Given the description of an element on the screen output the (x, y) to click on. 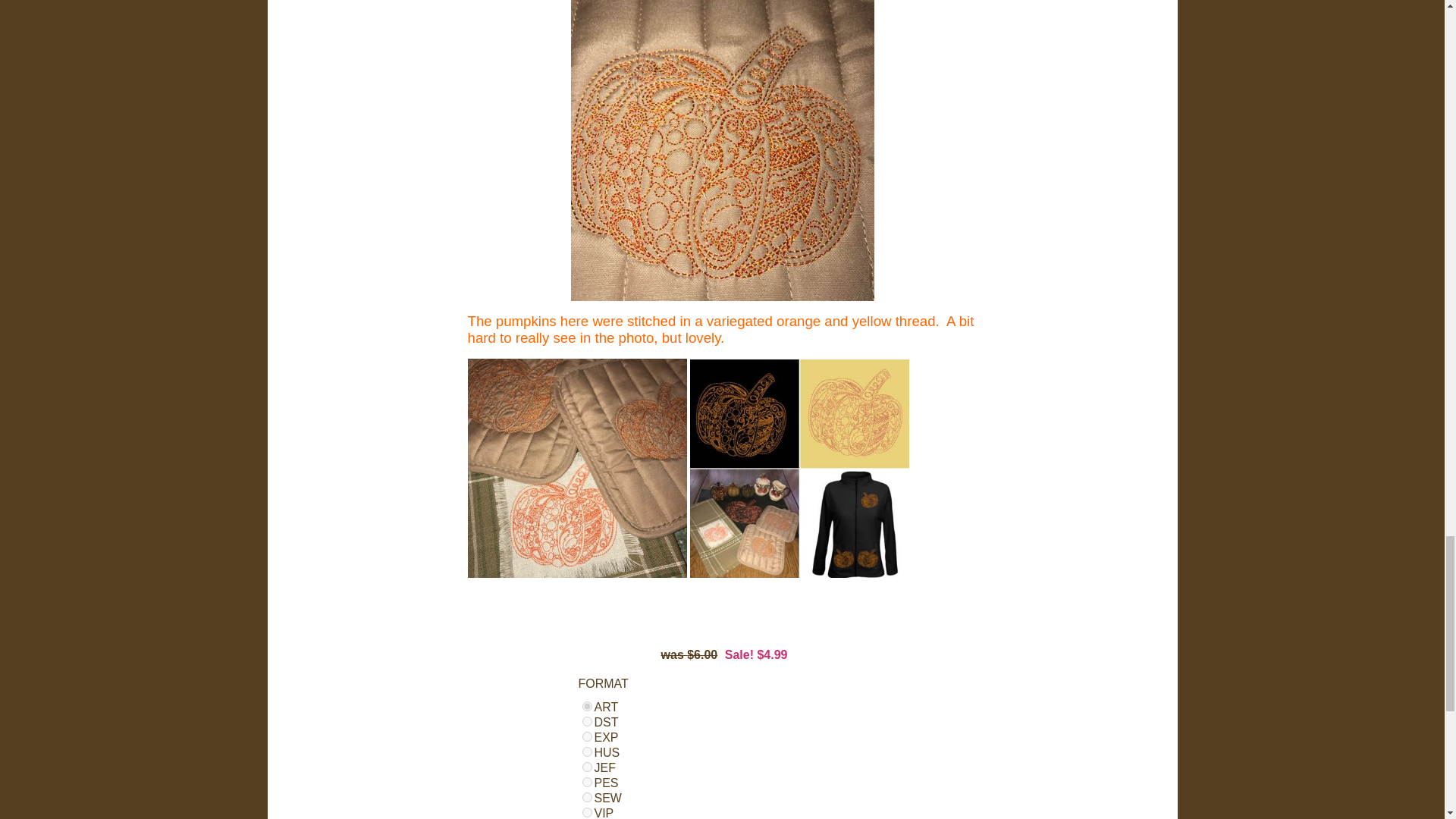
JEF (587, 767)
SEW (587, 797)
VIP (587, 812)
DST (587, 721)
HUS (587, 751)
EXP (587, 737)
PES (587, 782)
ART (587, 706)
